Given the description of an element on the screen output the (x, y) to click on. 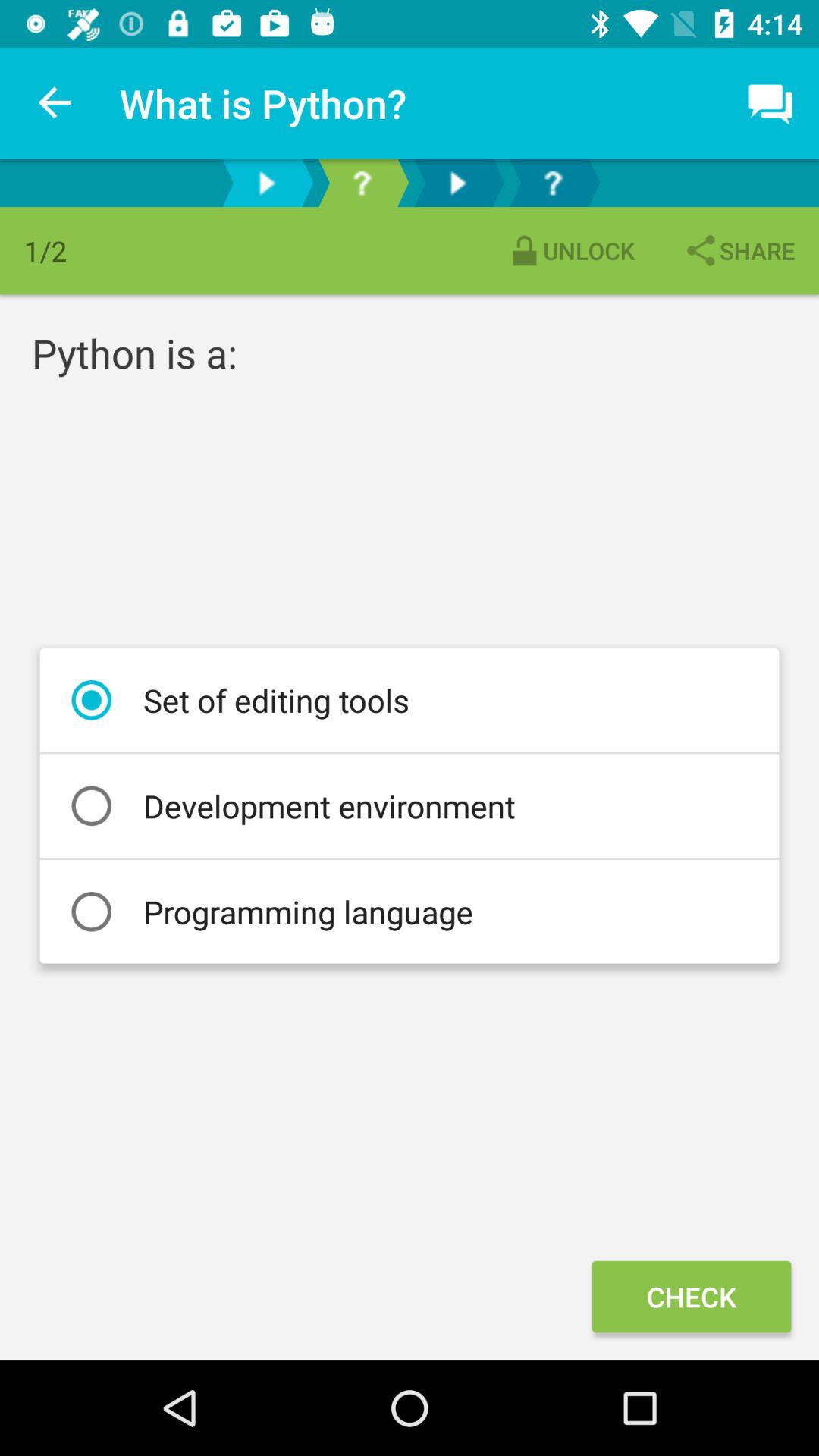
turn off the item next to the share (570, 250)
